Given the description of an element on the screen output the (x, y) to click on. 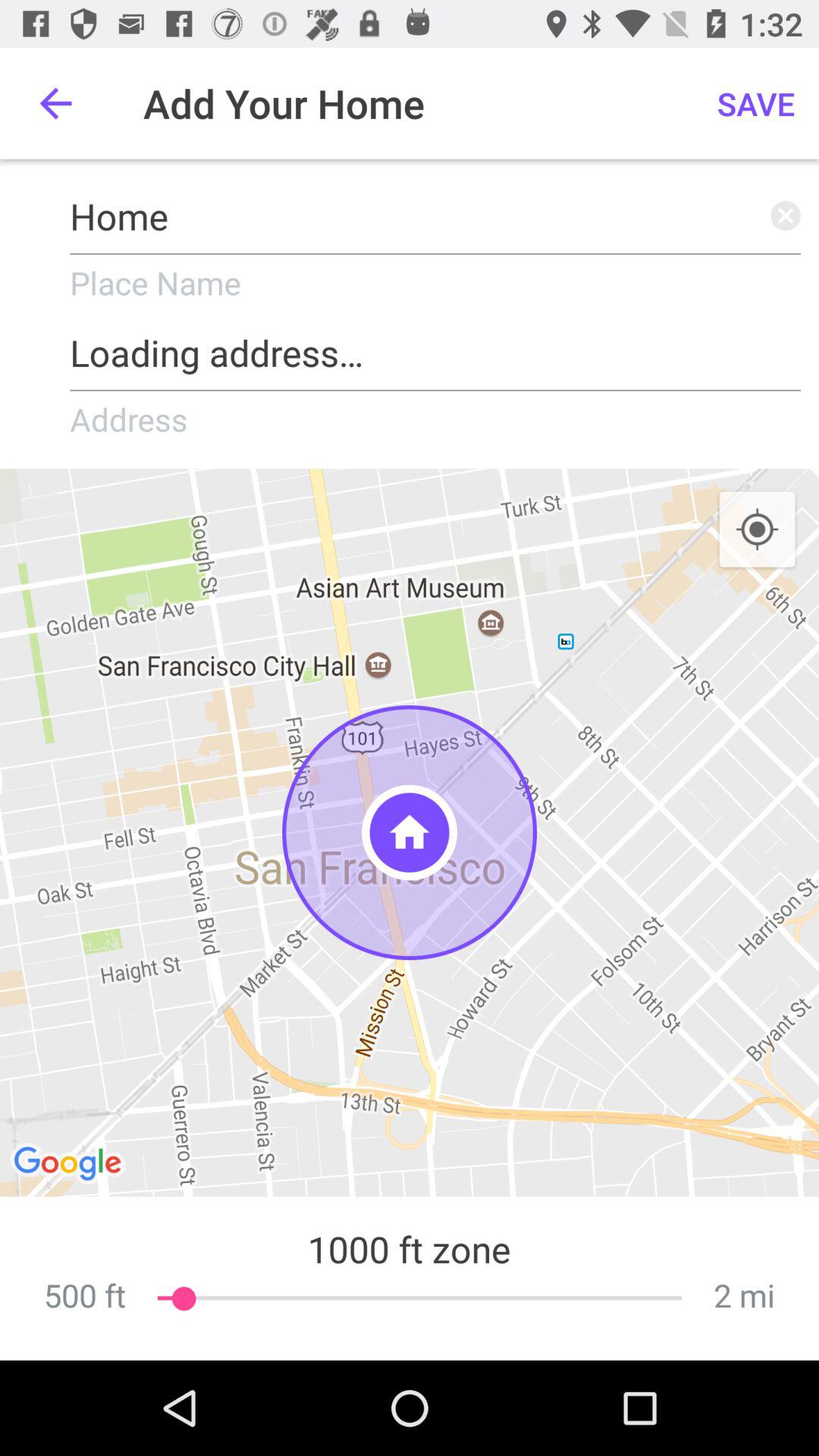
click on the icon which is next to add your home (755, 103)
select the one which is shown as home symbol (409, 832)
select the option which is beside guerrero st (69, 1164)
select the right topmost corner option on the map (757, 529)
